Given the description of an element on the screen output the (x, y) to click on. 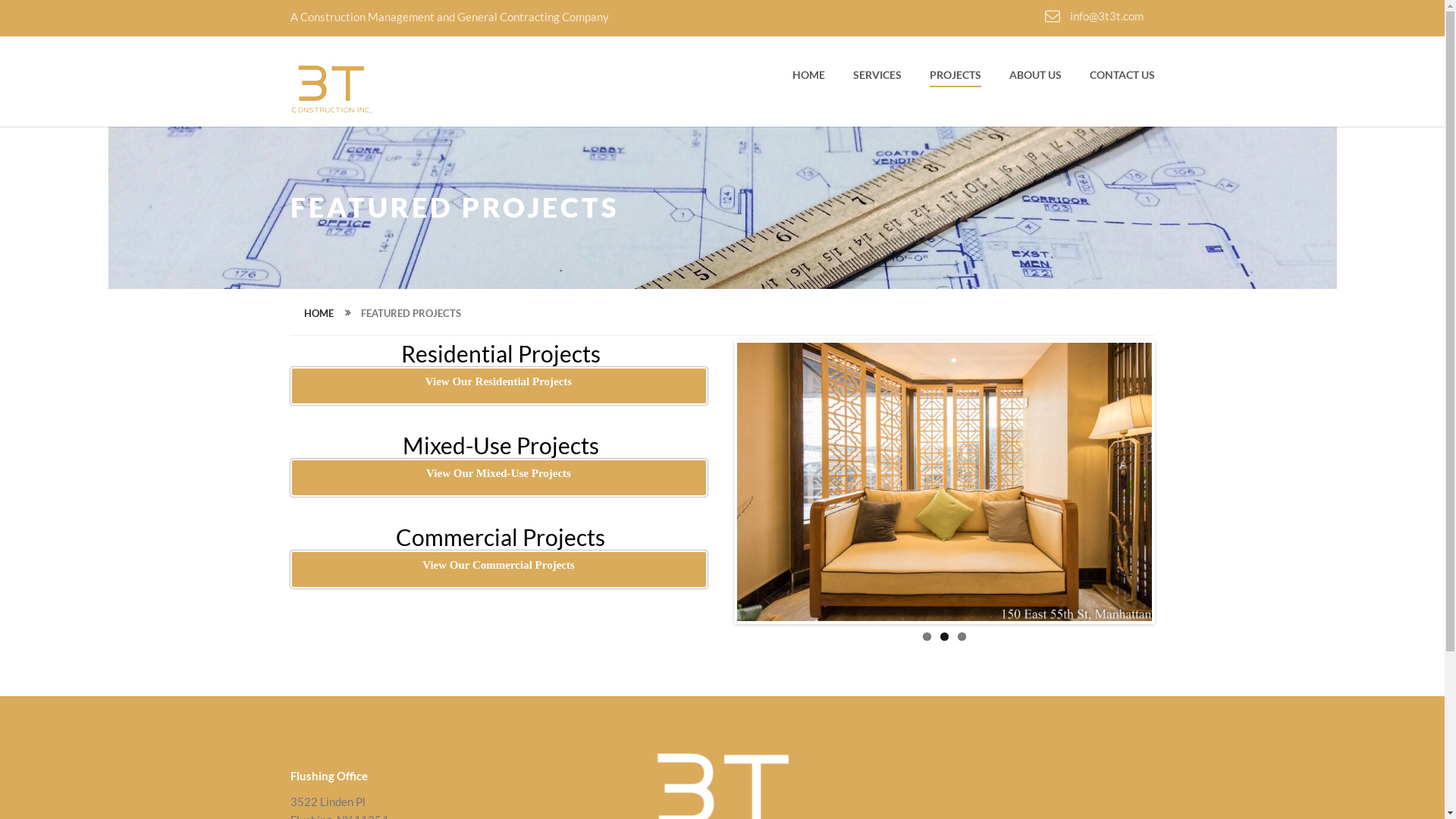
PROJECTS Element type: text (955, 78)
ABOUT US Element type: text (1034, 78)
CONTACT US Element type: text (1121, 78)
2 Element type: text (944, 636)
info@3t3t.com Element type: text (1093, 15)
View Our Residential Projects Element type: text (497, 385)
HOME Element type: text (317, 313)
View Our Mixed-Use Projects Element type: text (497, 477)
View Our Commercial Projects Element type: text (497, 569)
SERVICES Element type: text (876, 78)
1 Element type: text (926, 636)
HOME Element type: text (807, 78)
3 Element type: text (961, 636)
